Given the description of an element on the screen output the (x, y) to click on. 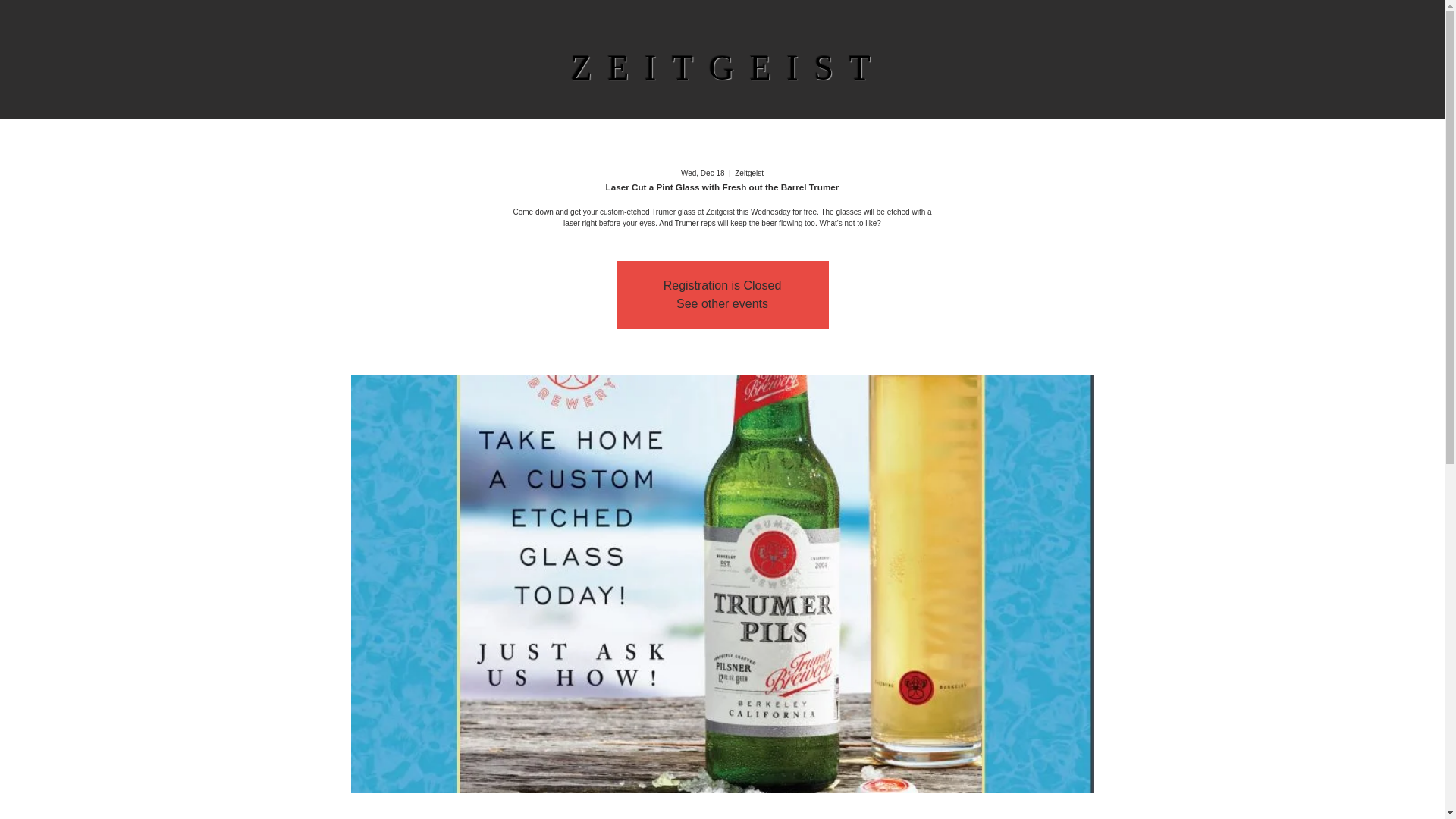
See other events (722, 303)
ZEITGEIST (727, 67)
